Given the description of an element on the screen output the (x, y) to click on. 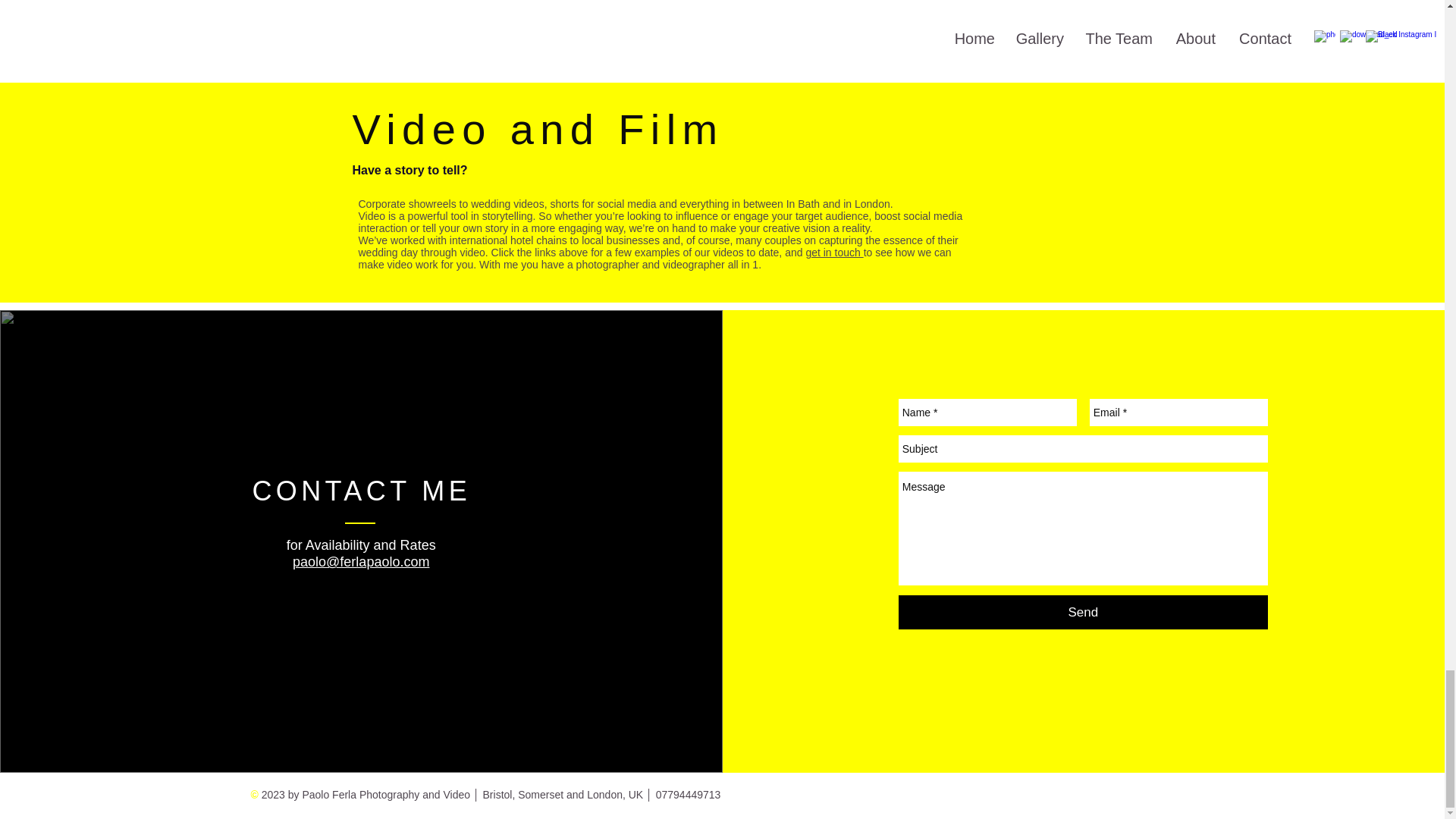
get in touch  (834, 252)
Send (1083, 612)
